Given the description of an element on the screen output the (x, y) to click on. 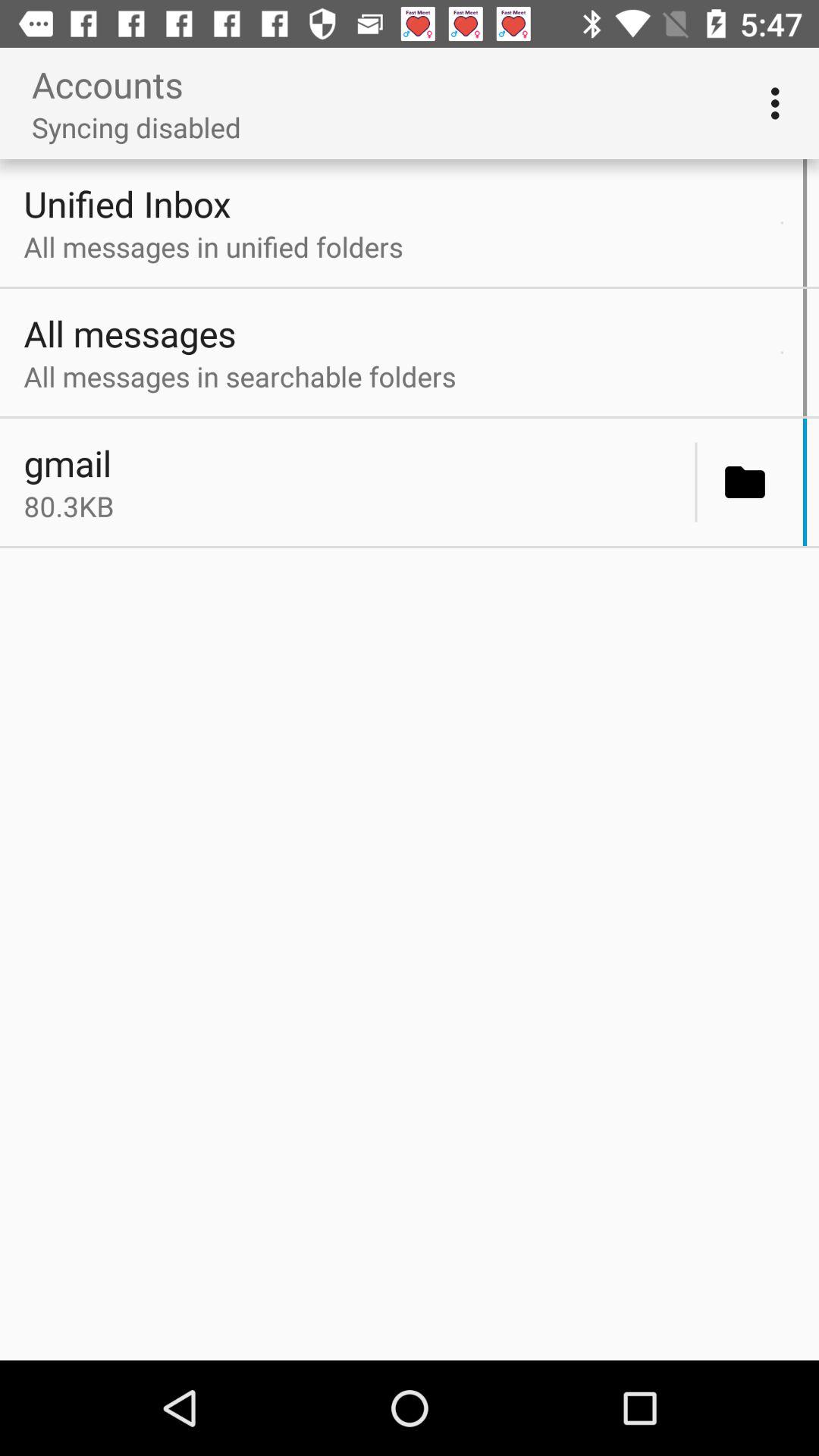
flip to the unified inbox item (397, 203)
